Given the description of an element on the screen output the (x, y) to click on. 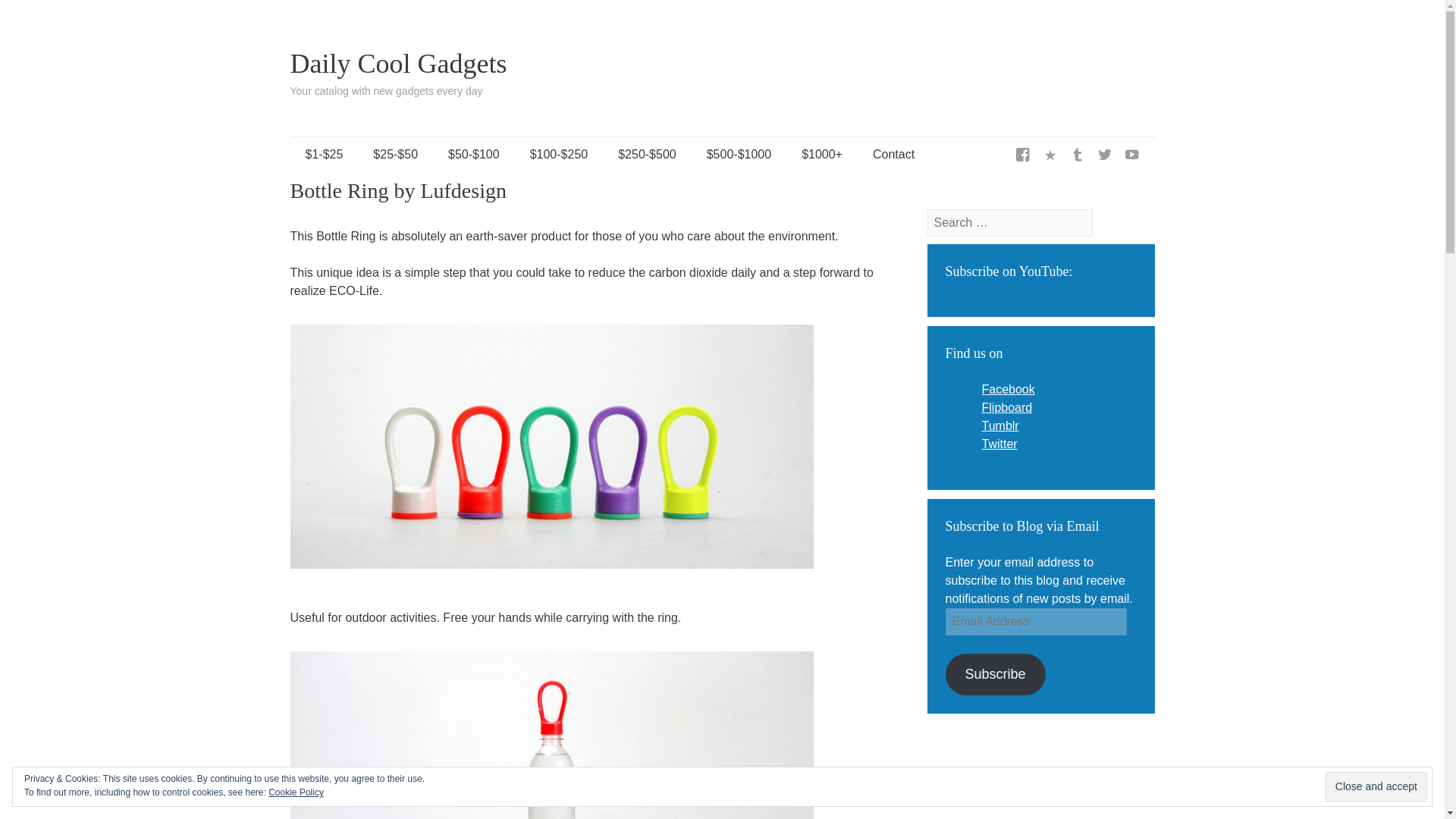
Bottle Ring by Lufdesign (550, 451)
Contact (893, 154)
Skip to content (304, 154)
Bottle Ring by Lufdesign (550, 735)
Daily Cool Gadgets (397, 63)
Close and accept (1375, 786)
